Given the description of an element on the screen output the (x, y) to click on. 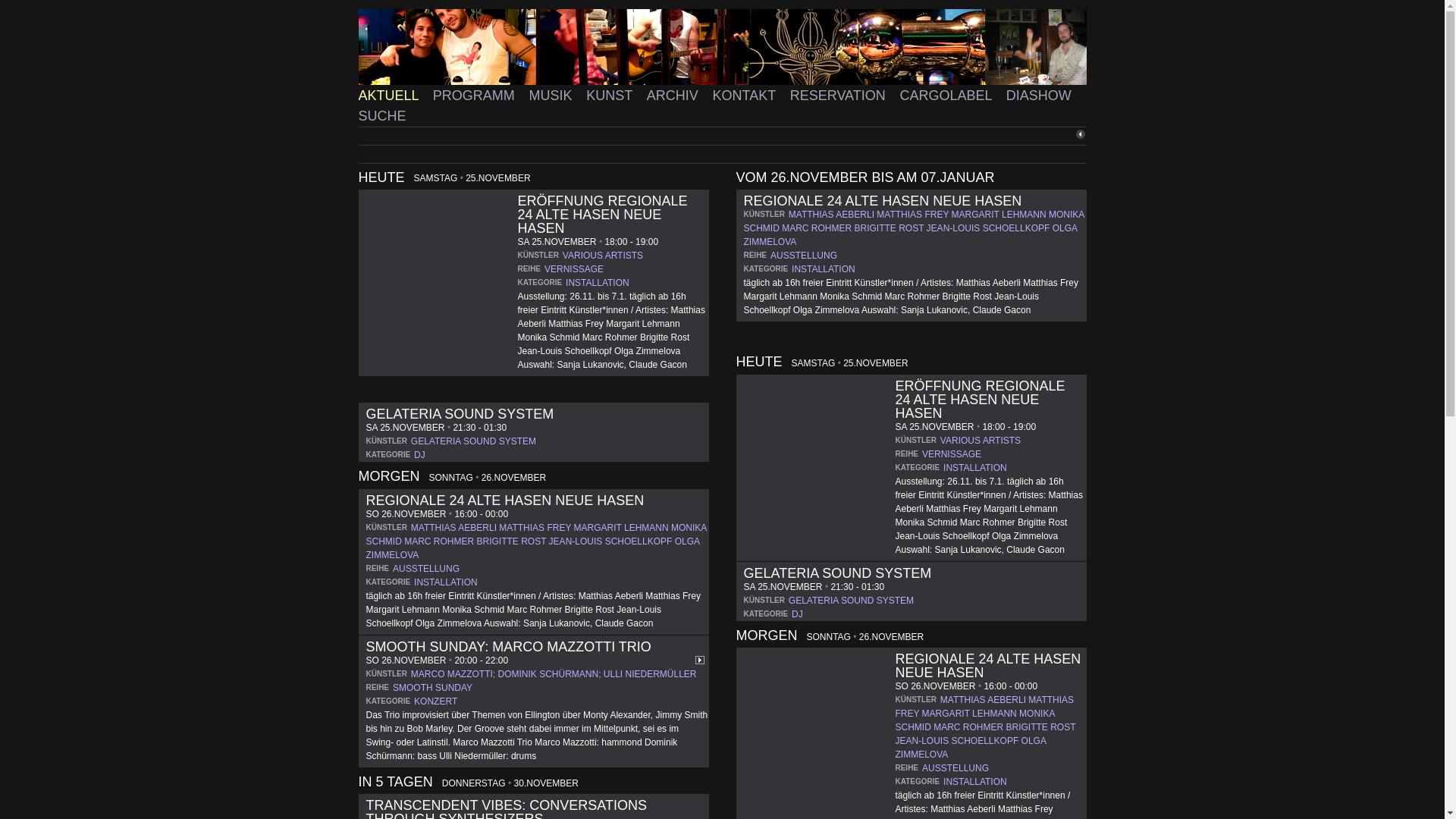
REGIONALE 24 ALTE HASEN NEUE HASEN Element type: text (504, 500)
VARIOUS ARTISTS Element type: text (602, 255)
GELATERIA SOUND SYSTEM Element type: text (459, 413)
INSTALLATION Element type: text (445, 582)
GELATERIA SOUND SYSTEM Element type: text (473, 441)
KONZERT Element type: text (435, 701)
PROGRAMM Element type: text (476, 95)
AUSSTELLUNG Element type: text (955, 767)
REGIONALE 24 ALTE HASEN NEUE HASEN Element type: text (987, 665)
VARIOUS ARTISTS Element type: text (980, 440)
INSTALLATION Element type: text (975, 467)
GELATERIA SOUND SYSTEM Element type: text (850, 600)
VERNISSAGE Element type: text (573, 268)
AUSSTELLUNG Element type: text (425, 568)
REGIONALE 24 ALTE HASEN NEUE HASEN Element type: text (882, 200)
SMOOTH SUNDAY Element type: text (432, 687)
CARGOLABEL Element type: text (948, 95)
KONTAKT Element type: text (746, 95)
DJ Element type: text (797, 613)
ARCHIV Element type: text (674, 95)
KUNST Element type: text (611, 95)
AKTUELL Element type: text (390, 95)
SMOOTH SUNDAY: MARCO MAZZOTTI TRIO Element type: text (507, 646)
RESERVATION Element type: text (840, 95)
Home Element type: hover (721, 47)
INSTALLATION Element type: text (597, 282)
DIASHOW Element type: text (1039, 95)
INSTALLATION Element type: text (823, 268)
INSTALLATION Element type: text (975, 781)
SUCHE Element type: text (382, 115)
AUSSTELLUNG Element type: text (803, 255)
DJ Element type: text (419, 454)
GELATERIA SOUND SYSTEM Element type: text (837, 572)
MUSIK Element type: text (552, 95)
VERNISSAGE Element type: text (951, 453)
